Given the description of an element on the screen output the (x, y) to click on. 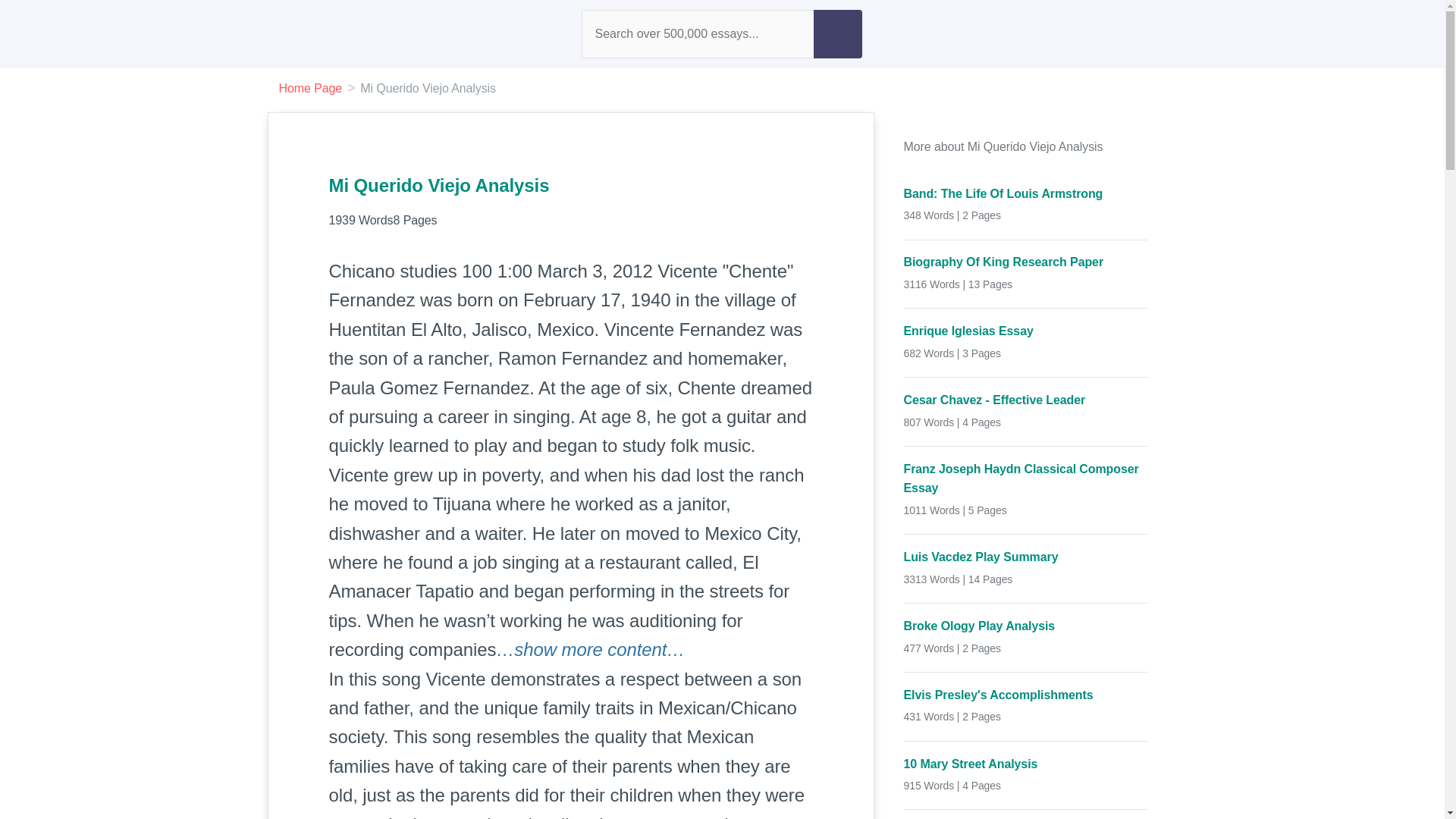
Franz Joseph Haydn Classical Composer Essay (1026, 478)
Enrique Iglesias Essay (1026, 331)
Home Page (310, 88)
Elvis Presley's Accomplishments (1026, 695)
Luis Vacdez Play Summary (1026, 557)
Cesar Chavez - Effective Leader (1026, 400)
Band: The Life Of Louis Armstrong (1026, 193)
10 Mary Street Analysis (1026, 763)
Broke Ology Play Analysis (1026, 626)
Biography Of King Research Paper (1026, 261)
